Given the description of an element on the screen output the (x, y) to click on. 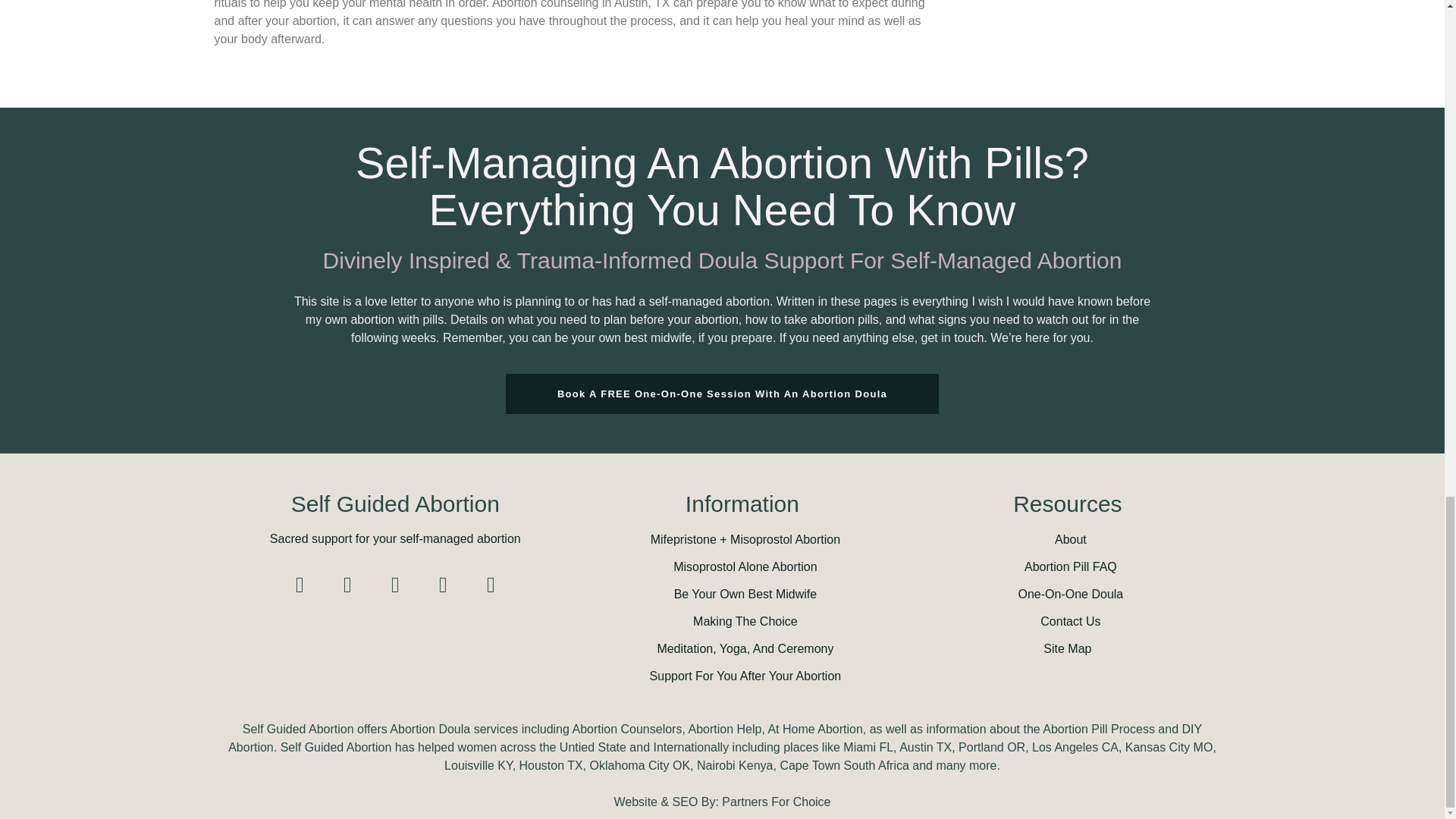
Misoprostol Alone Abortion (741, 566)
Meditation, Yoga, And Ceremony (741, 648)
Be Your Own Best Midwife (742, 594)
Making The Choice (742, 621)
Book A FREE One-On-One Session With An Abortion Doula (722, 393)
